Given the description of an element on the screen output the (x, y) to click on. 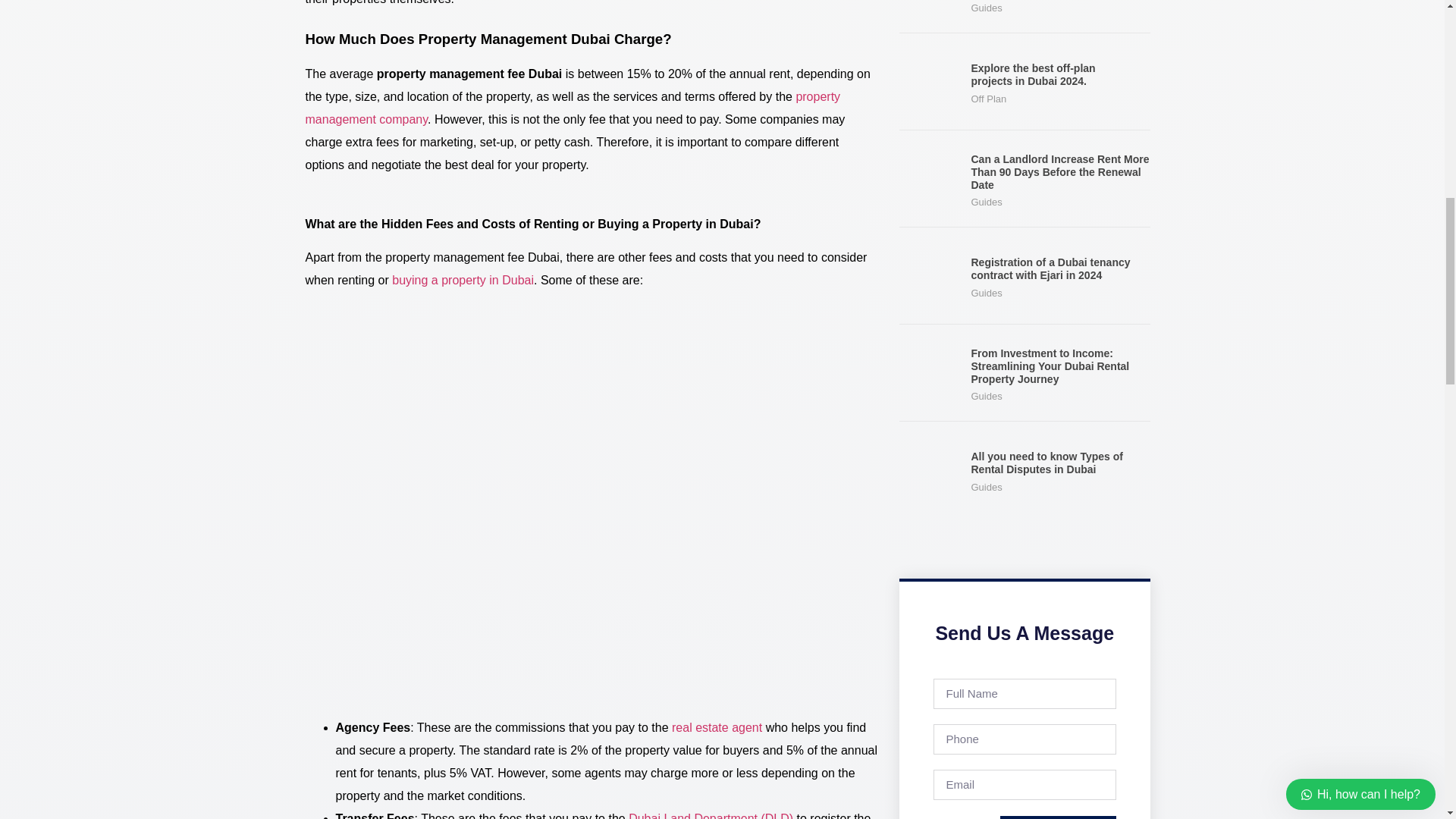
Off Plan (988, 99)
All you need to know Types of Rental Disputes in Dubai (1046, 462)
Guides (986, 7)
buying a property in Dubai (462, 279)
real estate agent (716, 727)
Guides (986, 293)
